Given the description of an element on the screen output the (x, y) to click on. 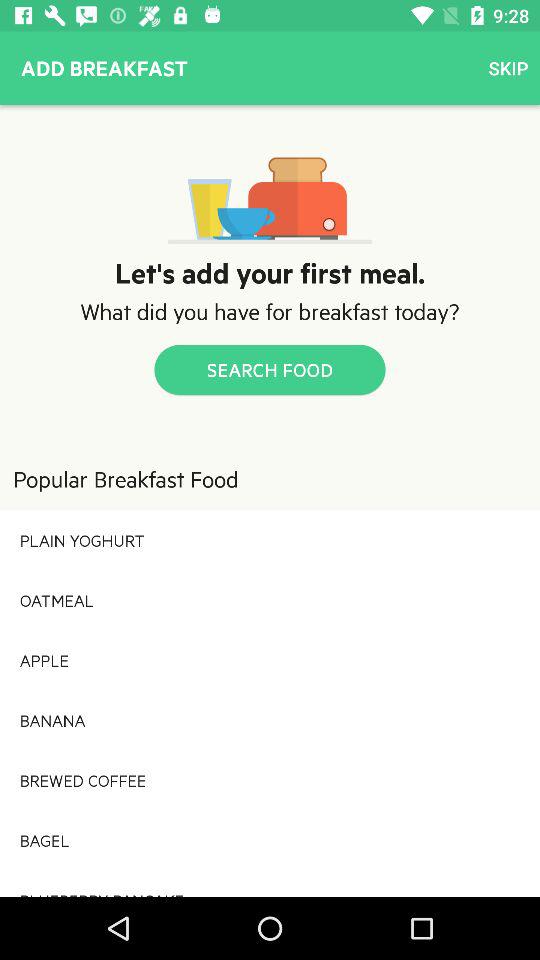
click banana icon (270, 720)
